Given the description of an element on the screen output the (x, y) to click on. 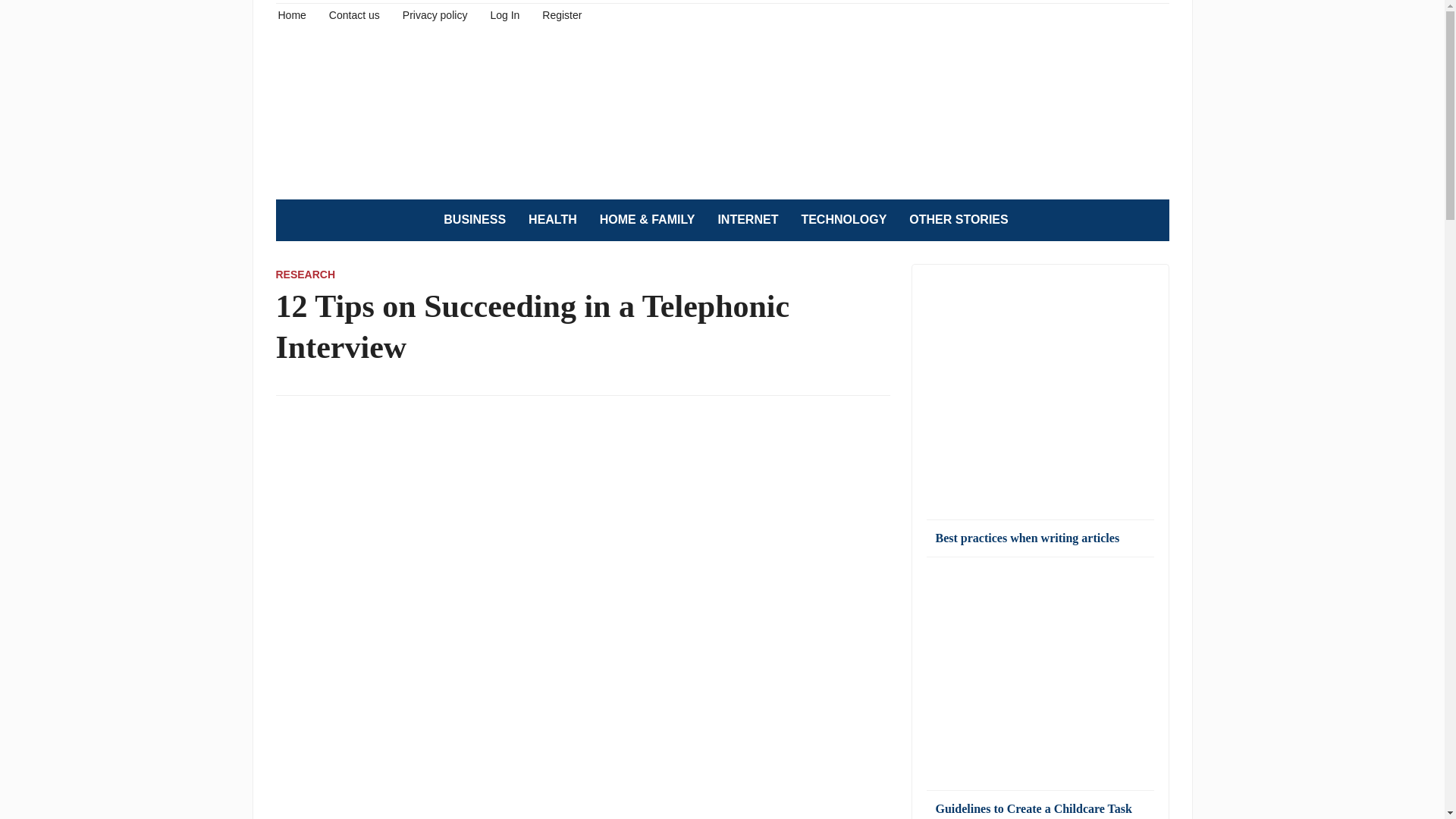
Search (1149, 219)
Log In (504, 14)
Contact us (354, 14)
Register (560, 14)
Home (291, 14)
Privacy policy (435, 14)
